Given the description of an element on the screen output the (x, y) to click on. 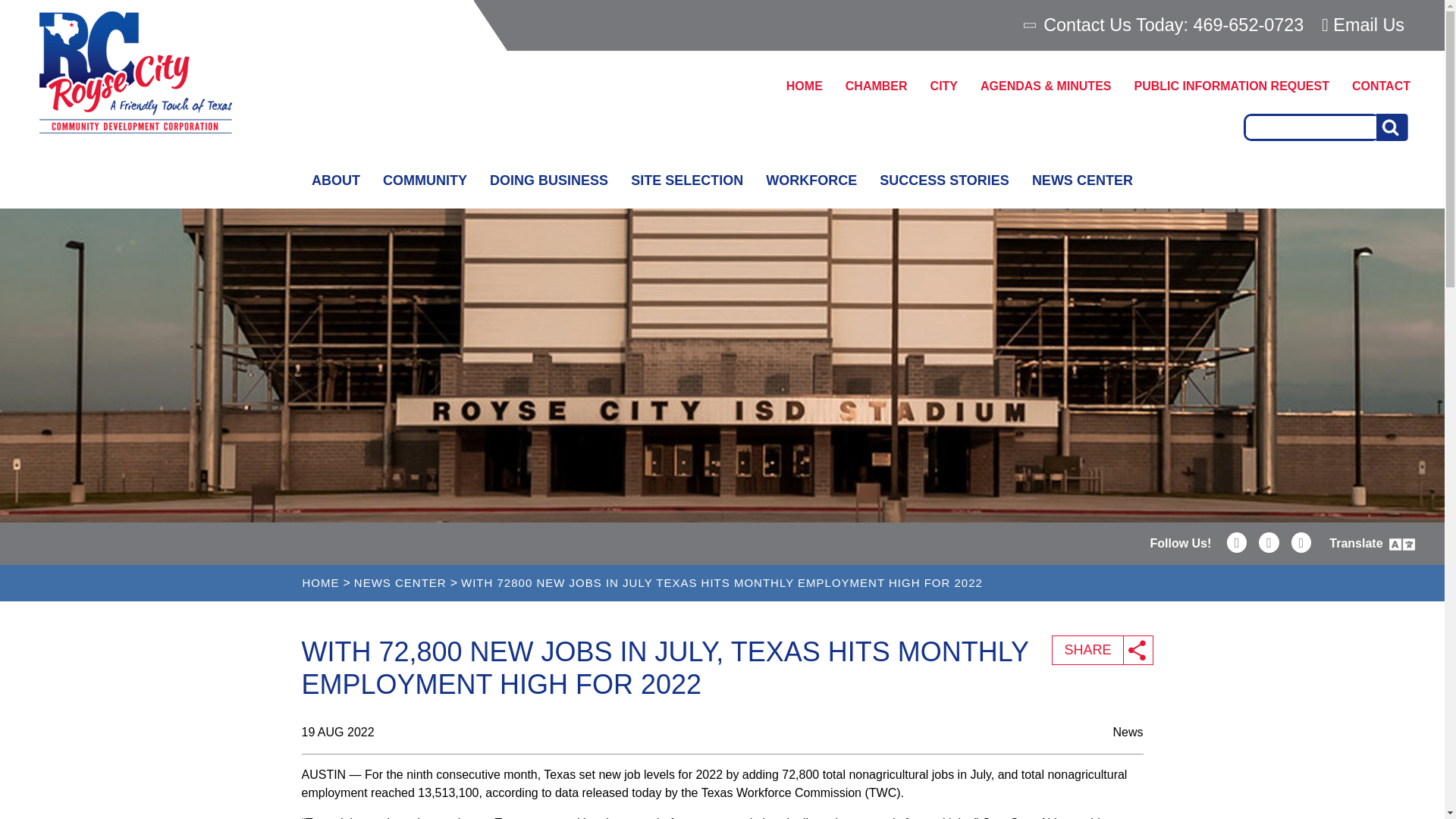
CONTACT (1381, 85)
HOME (804, 85)
CITY (944, 85)
PUBLIC INFORMATION REQUEST (1230, 85)
COMMUNITY (425, 180)
Contact Us Today: 469-652-0723 (1164, 25)
DOING BUSINESS (549, 180)
CHAMBER (876, 85)
SITE SELECTION (687, 180)
ABOUT (335, 180)
Email Us (1363, 24)
